Given the description of an element on the screen output the (x, y) to click on. 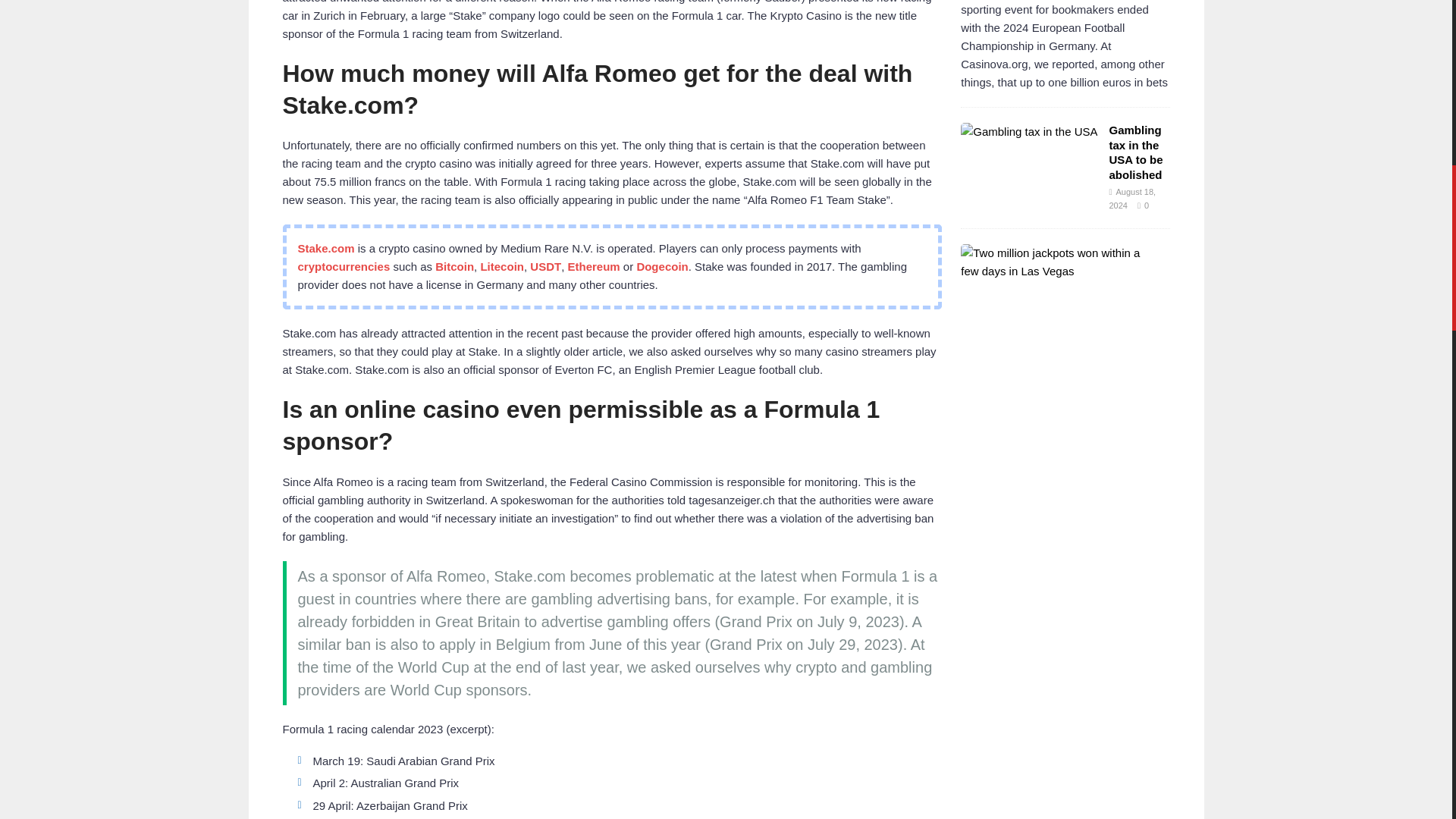
Gambling tax in the USA to be abolished (1028, 113)
Two million jackpots won within a few days in Las Vegas (1058, 243)
Gambling tax in the USA to be abolished (1134, 133)
